Given the description of an element on the screen output the (x, y) to click on. 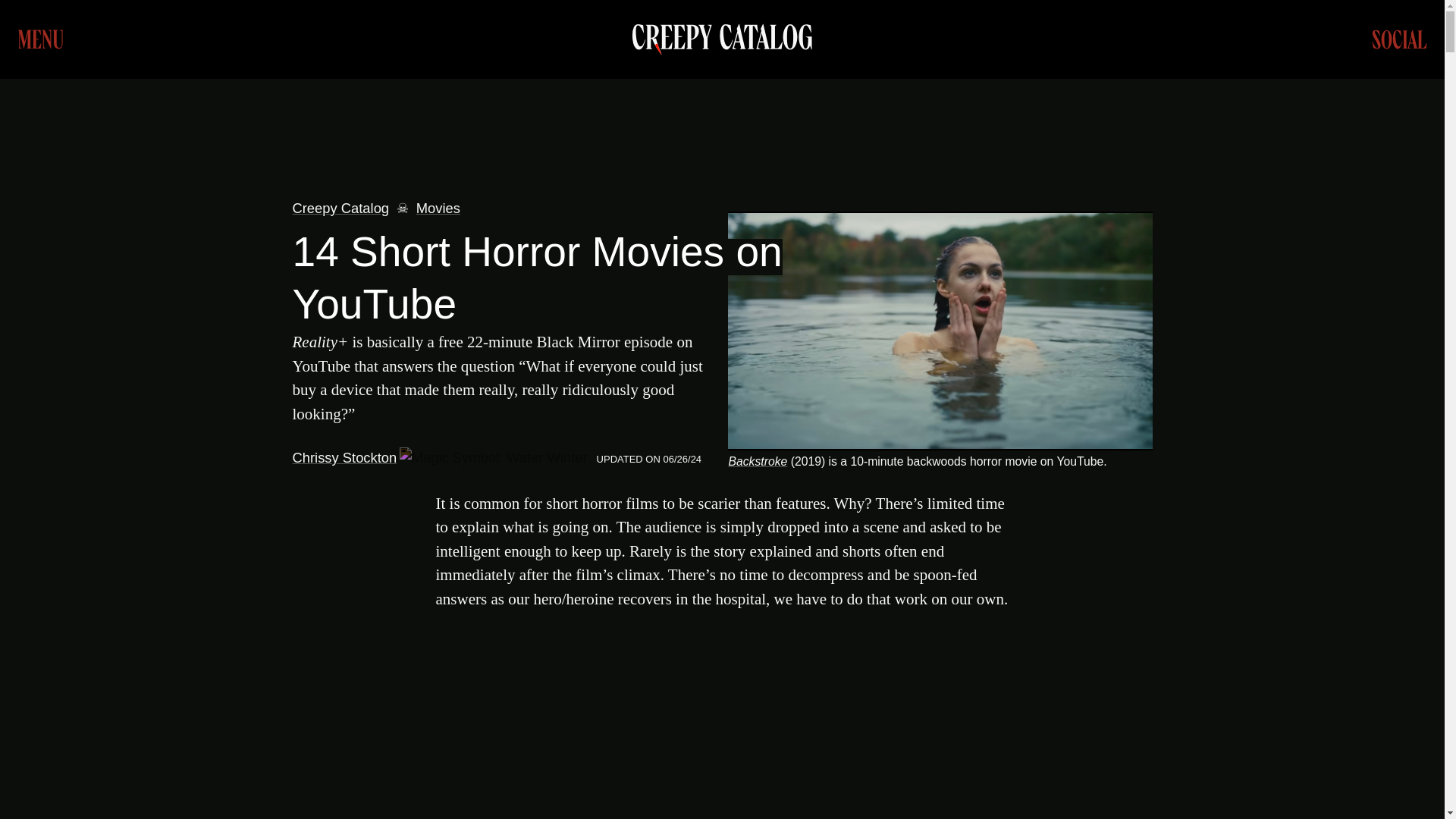
Movies (438, 207)
Creepy Catalog (721, 39)
Creepy Catalog (341, 207)
Chrissy Stockton (344, 457)
Backstroke (757, 461)
Posts by Chrissy Stockton (344, 457)
